Given the description of an element on the screen output the (x, y) to click on. 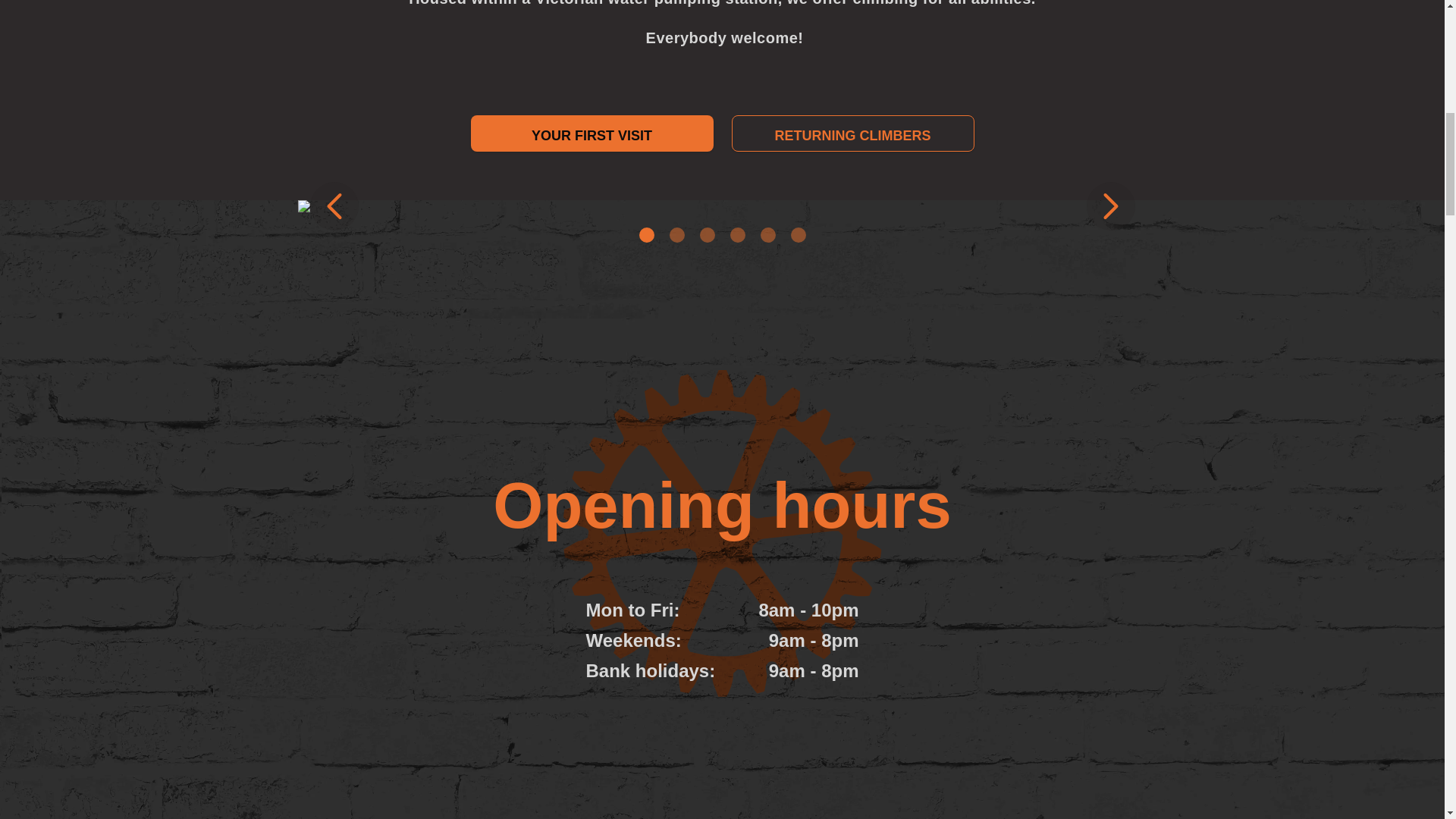
YOUR FIRST VISIT (591, 133)
RETURNING CLIMBERS (852, 133)
